Given the description of an element on the screen output the (x, y) to click on. 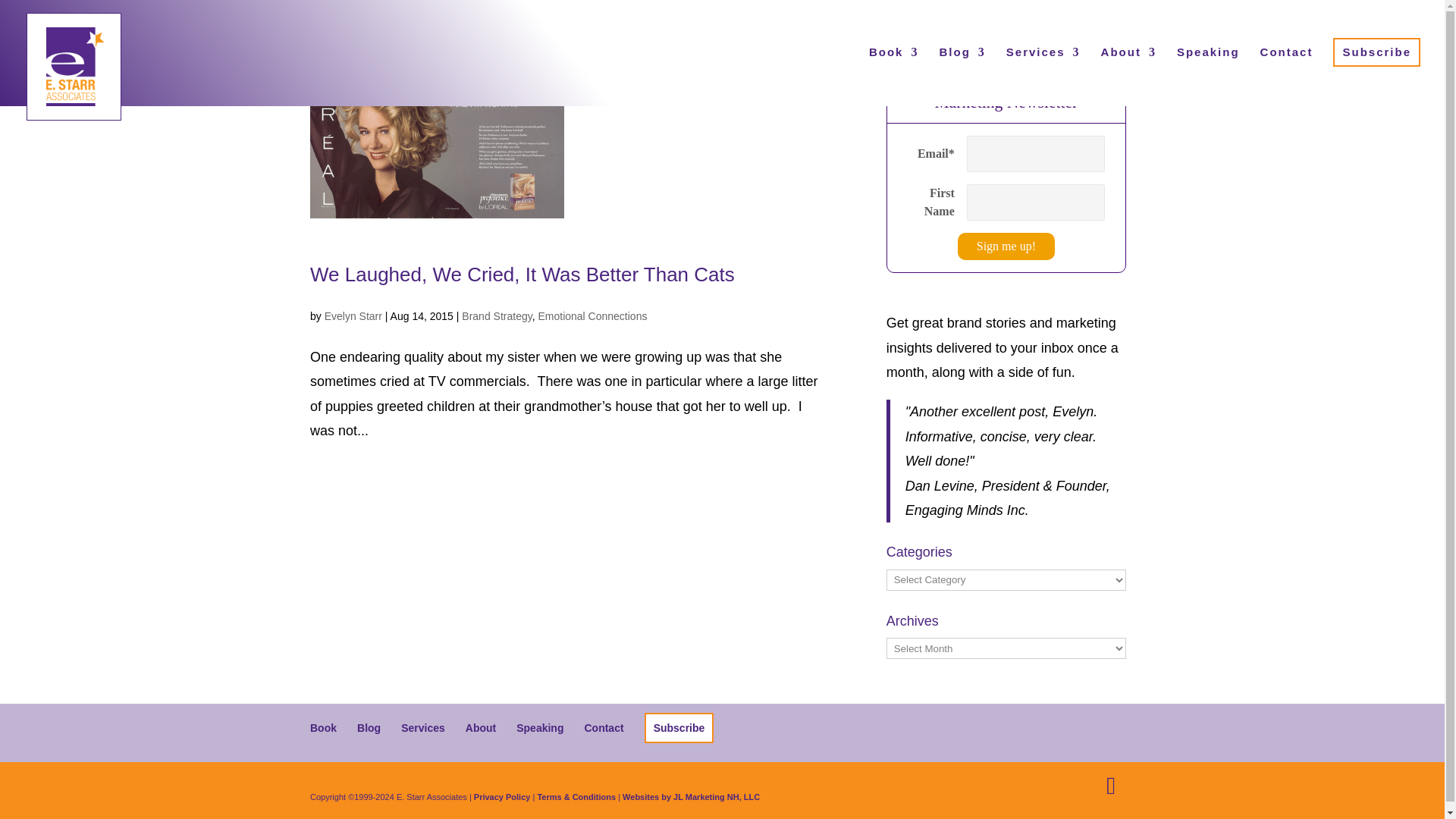
Contact (603, 727)
Speaking (1208, 70)
About (480, 727)
Sign me up! (1006, 246)
Book (323, 727)
Posts by Evelyn Starr (352, 316)
Blog (962, 70)
Book (893, 70)
Speaking (539, 727)
Evelyn Starr (352, 316)
